Given the description of an element on the screen output the (x, y) to click on. 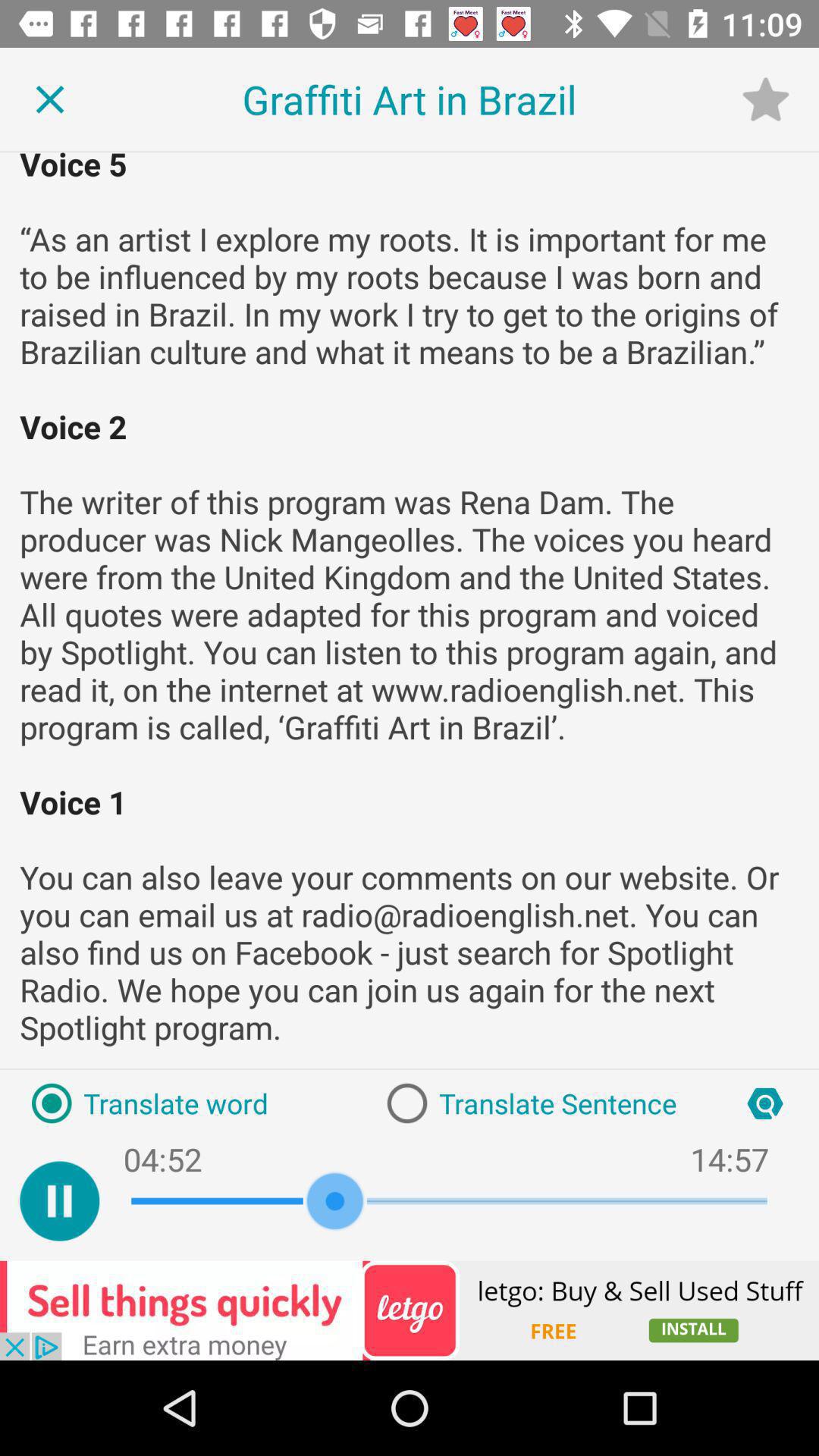
go to advertisement (409, 1310)
